Given the description of an element on the screen output the (x, y) to click on. 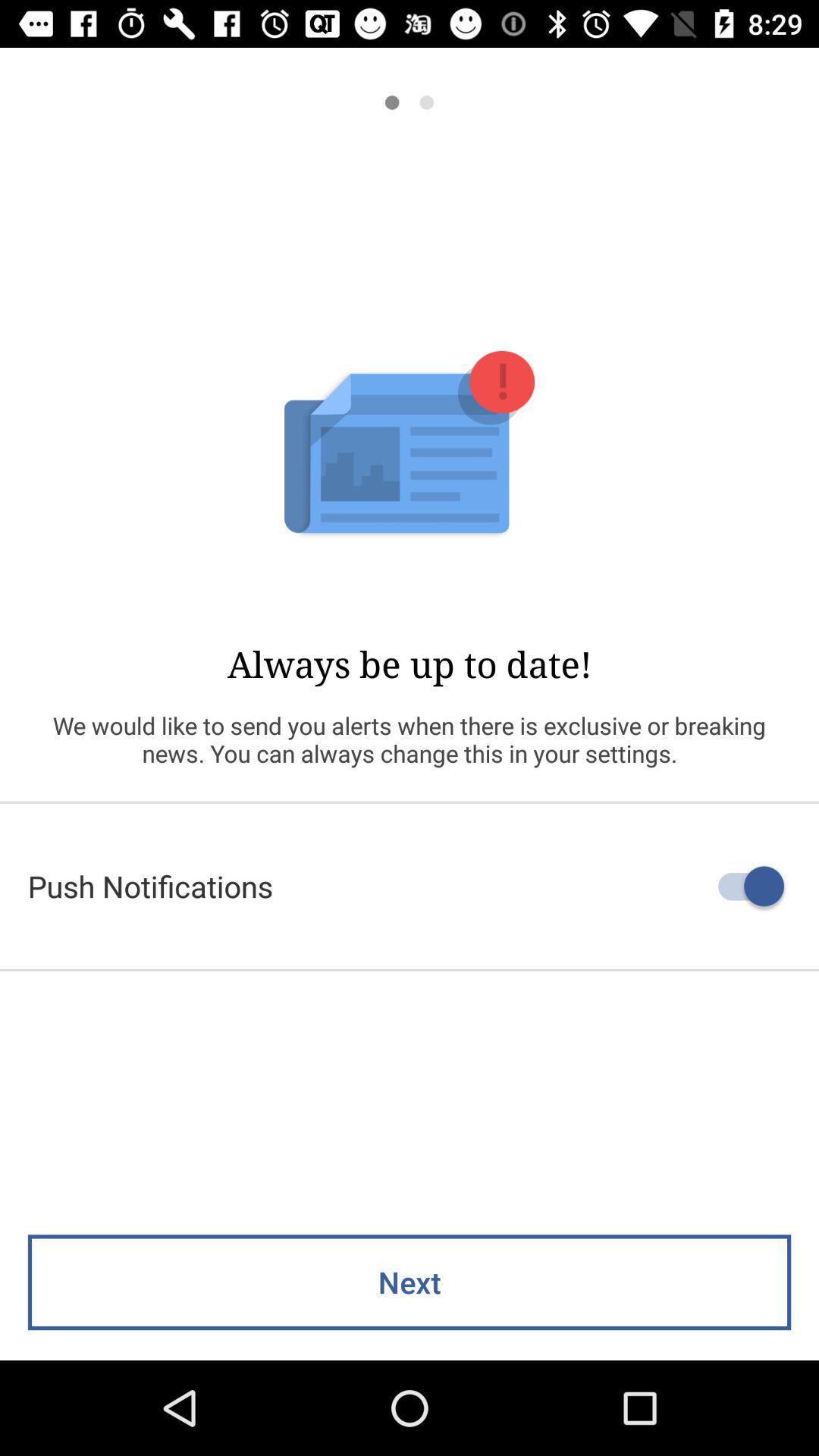
click push notifications (409, 886)
